Given the description of an element on the screen output the (x, y) to click on. 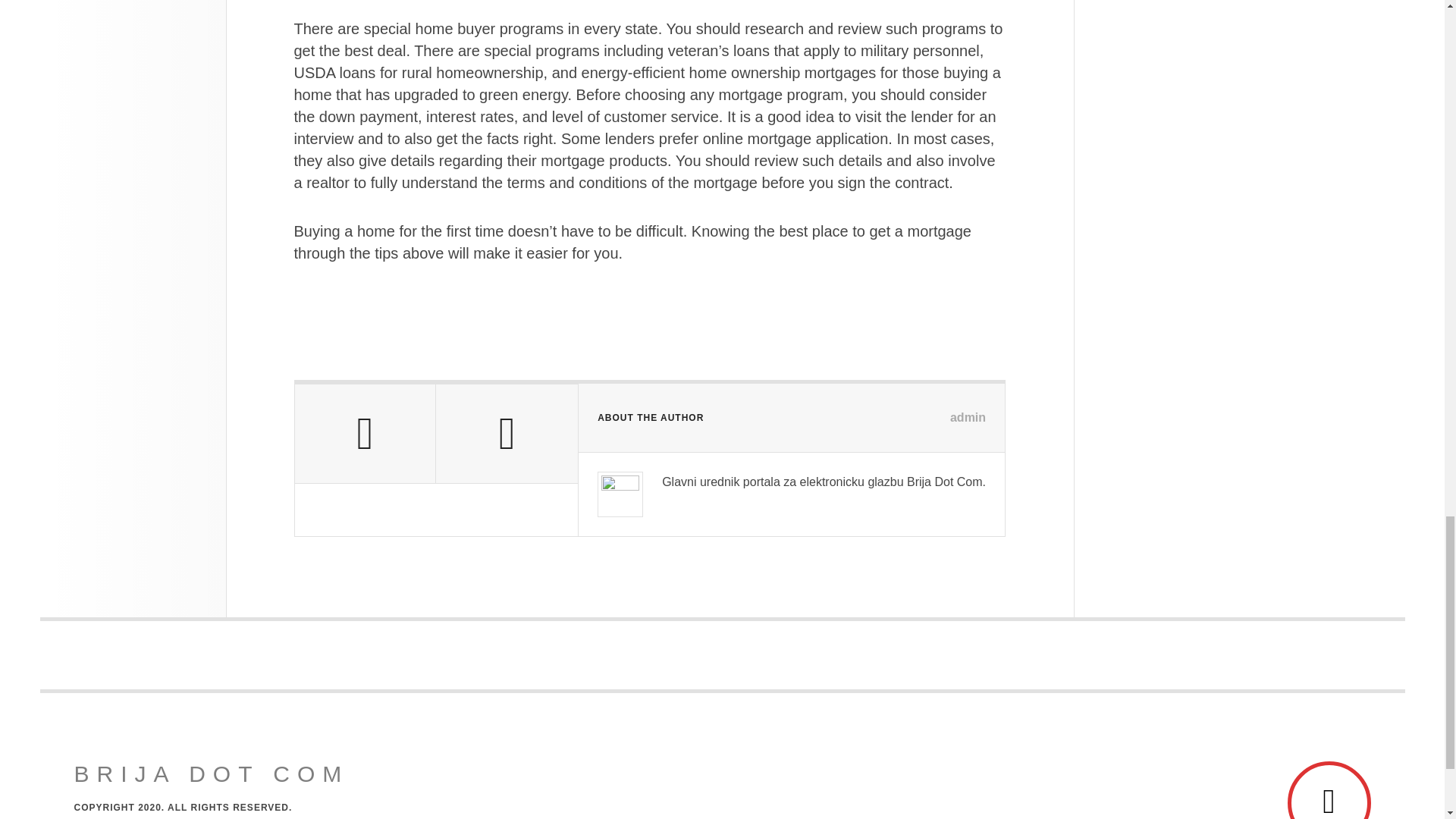
Next Post (506, 433)
Previous Post (364, 433)
